Given the description of an element on the screen output the (x, y) to click on. 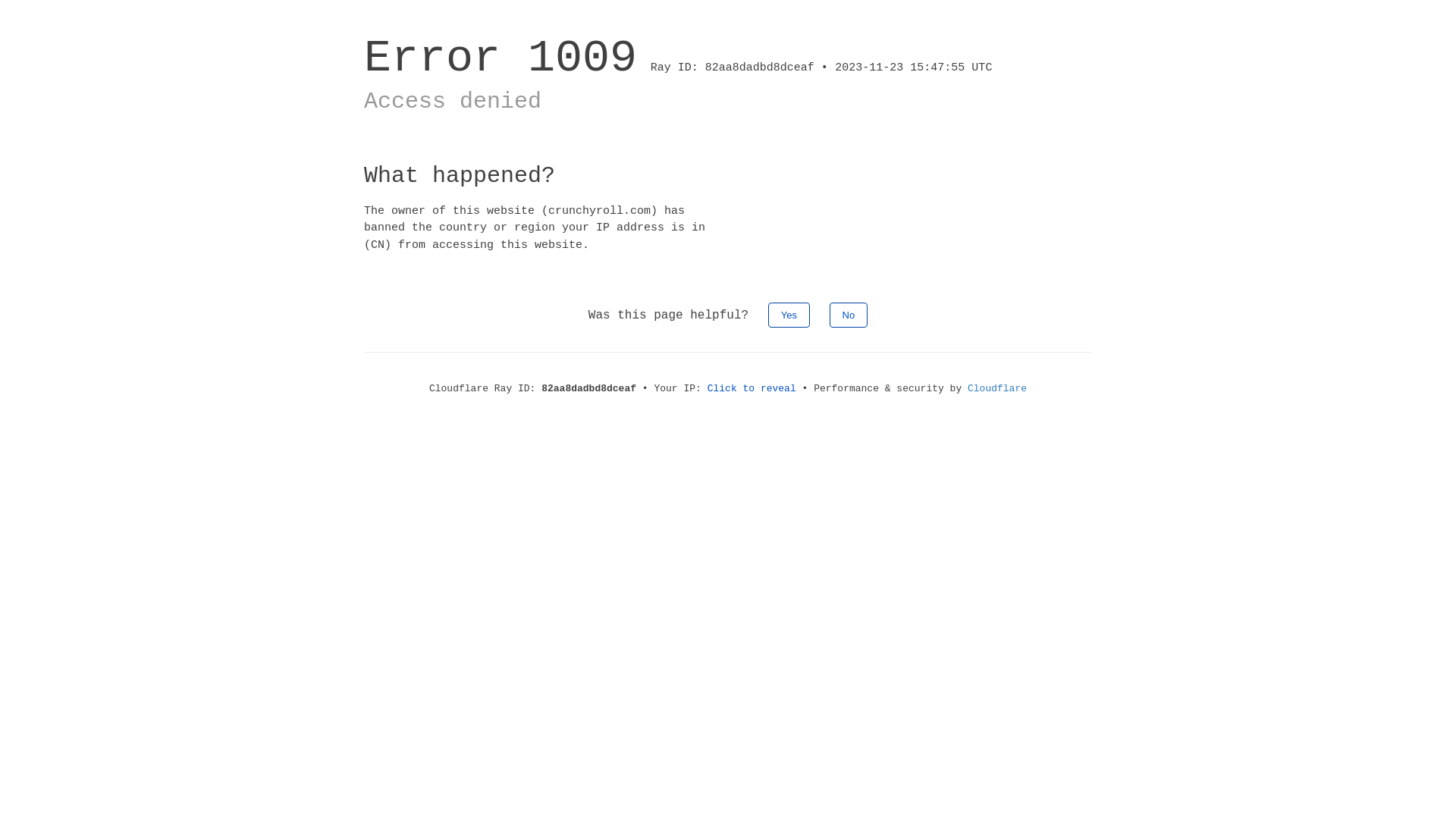
Click to reveal Element type: text (751, 388)
Yes Element type: text (788, 314)
No Element type: text (848, 314)
Cloudflare Element type: text (996, 388)
